Given the description of an element on the screen output the (x, y) to click on. 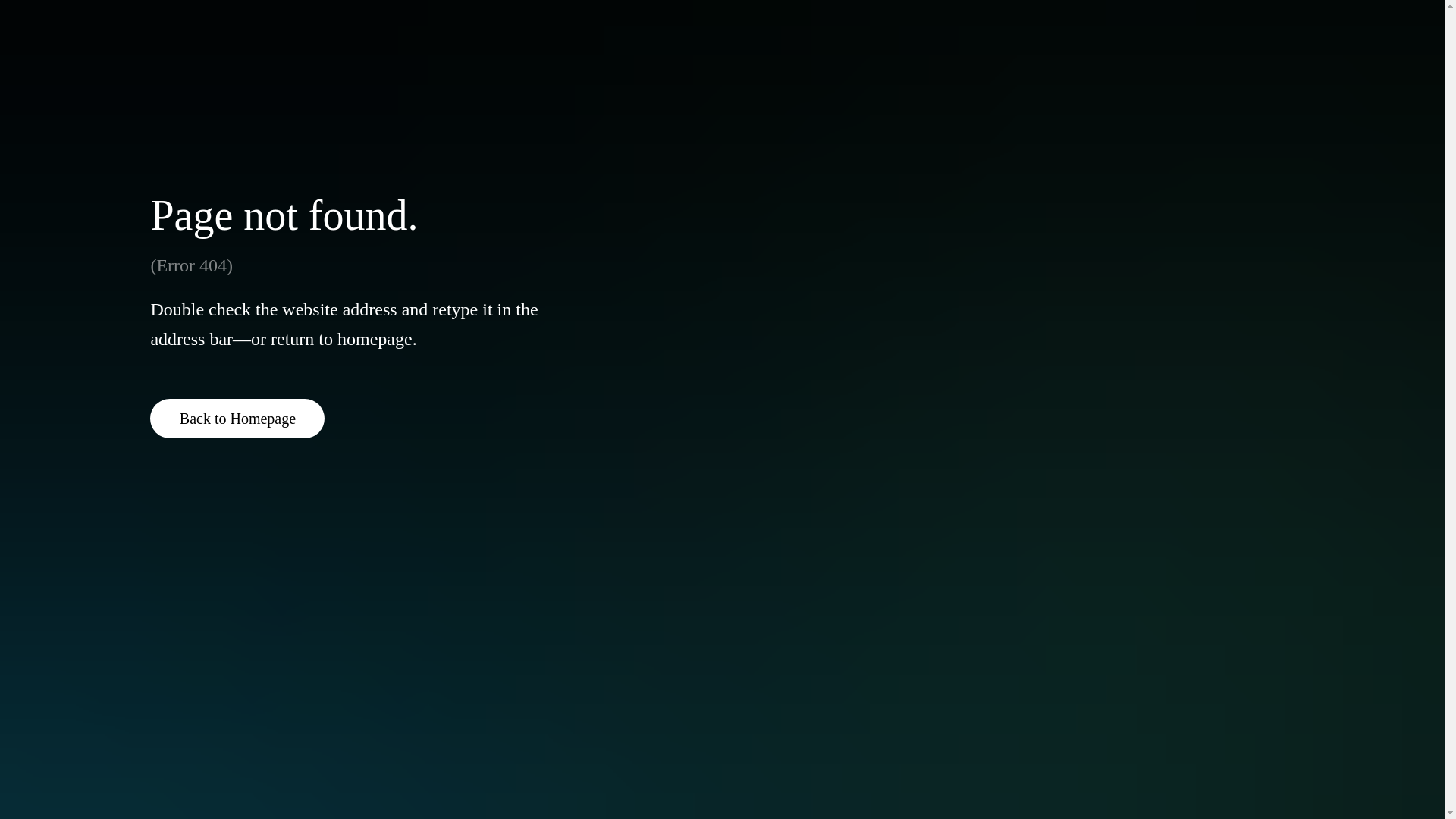
Back to Homepage (236, 418)
